Given the description of an element on the screen output the (x, y) to click on. 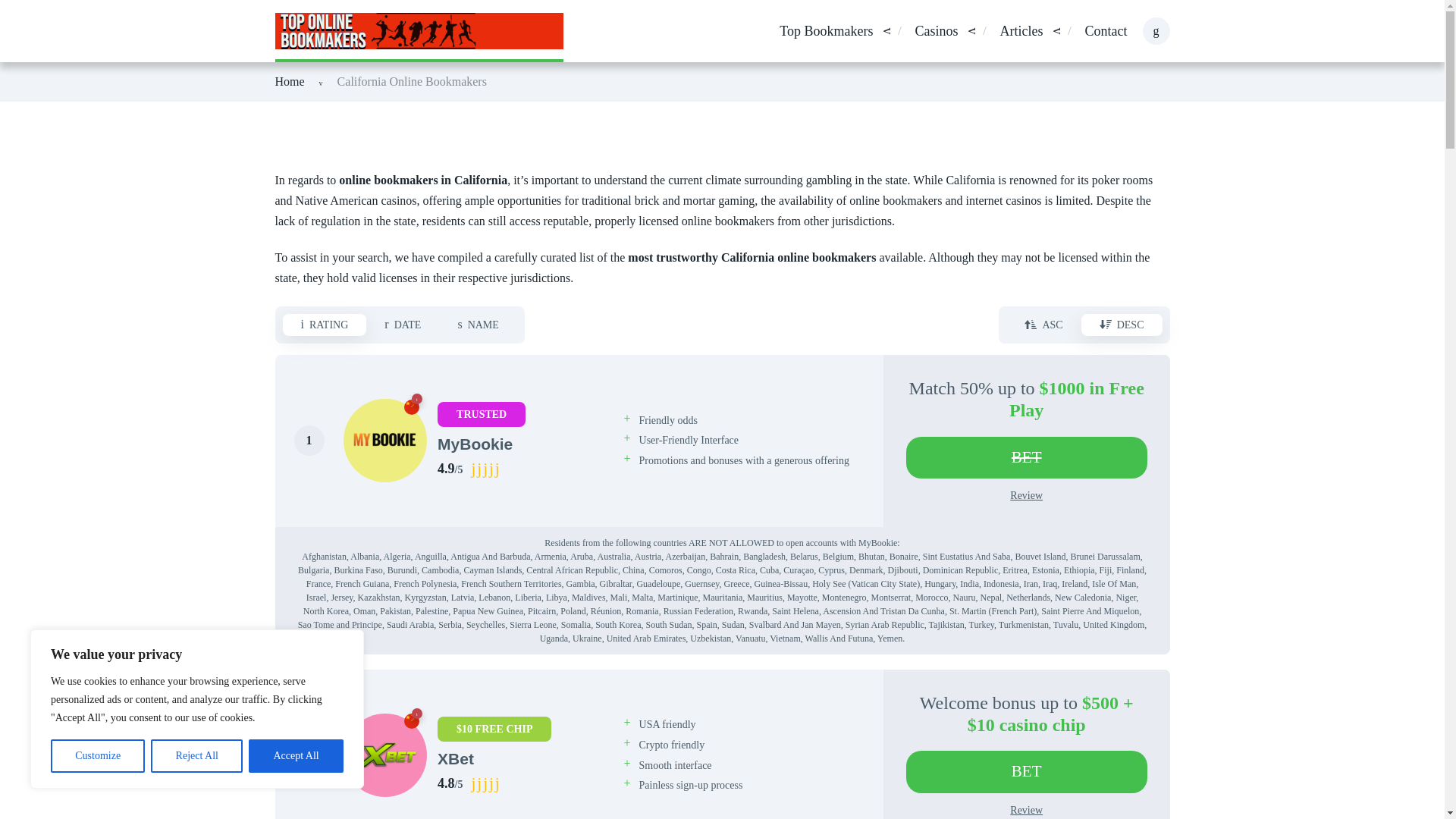
Reject All (197, 756)
Top Bookmakers (825, 31)
California Online Bookmakers (411, 81)
Casinos (936, 31)
Home (289, 81)
Articles (1021, 31)
Accept All (295, 756)
Customize (97, 756)
